Given the description of an element on the screen output the (x, y) to click on. 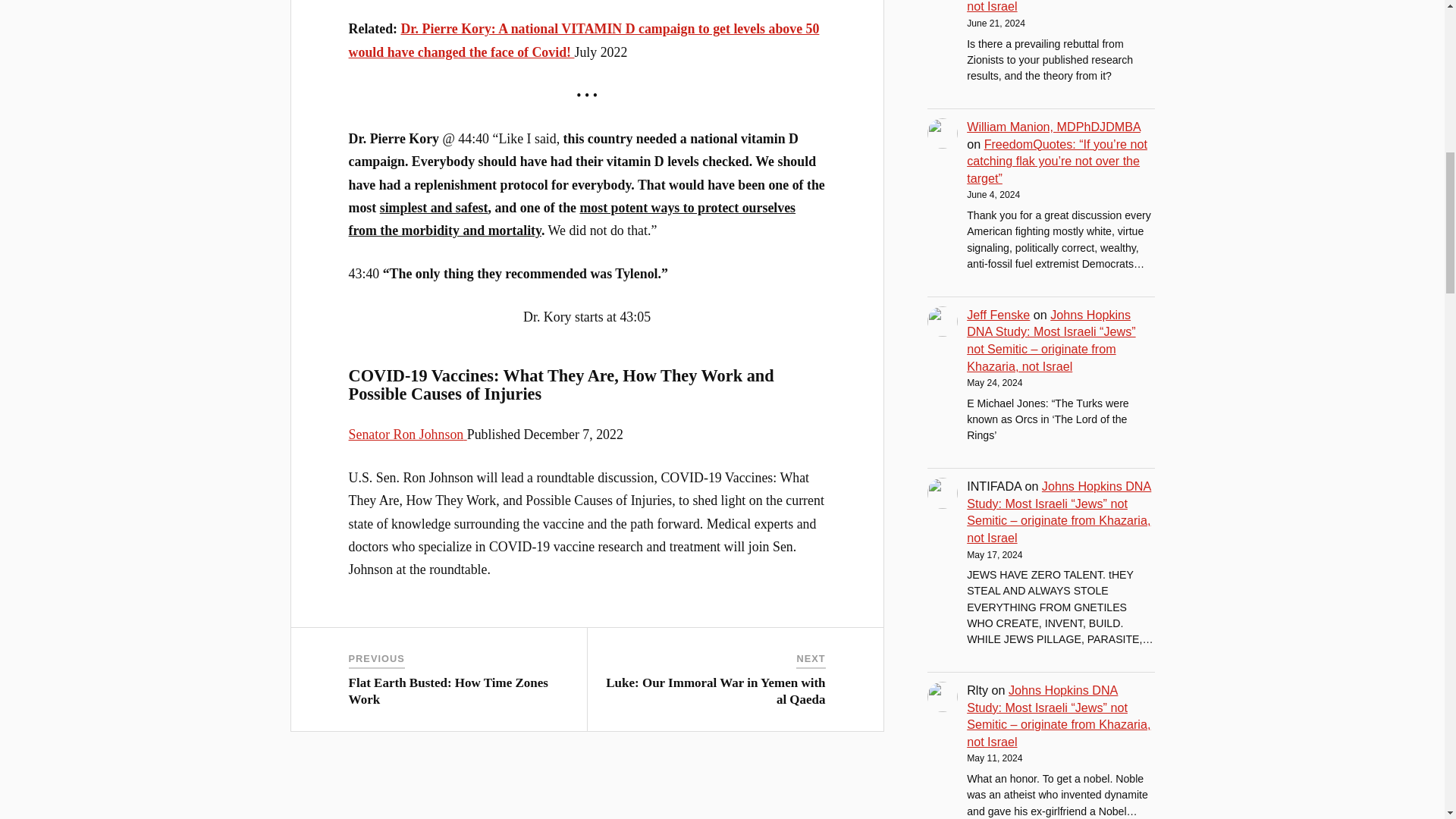
Luke: Our Immoral War in Yemen with al Qaeda (715, 690)
Jeff Fenske (997, 314)
Senator Ron Johnson (408, 434)
William Manion, MDPhDJDMBA (1053, 126)
Flat Earth Busted: How Time Zones Work (448, 690)
